Given the description of an element on the screen output the (x, y) to click on. 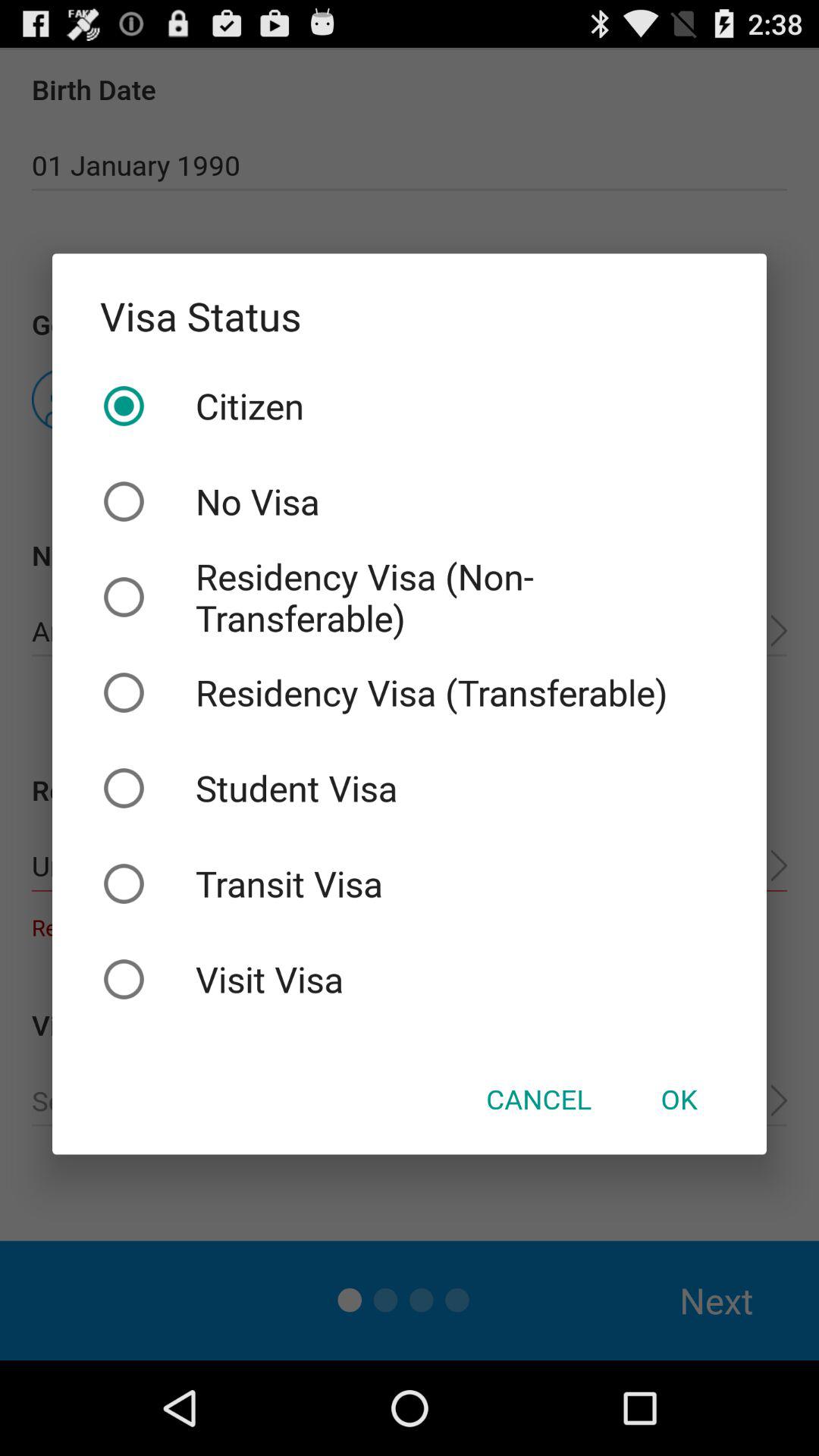
click the item next to ok (538, 1098)
